Given the description of an element on the screen output the (x, y) to click on. 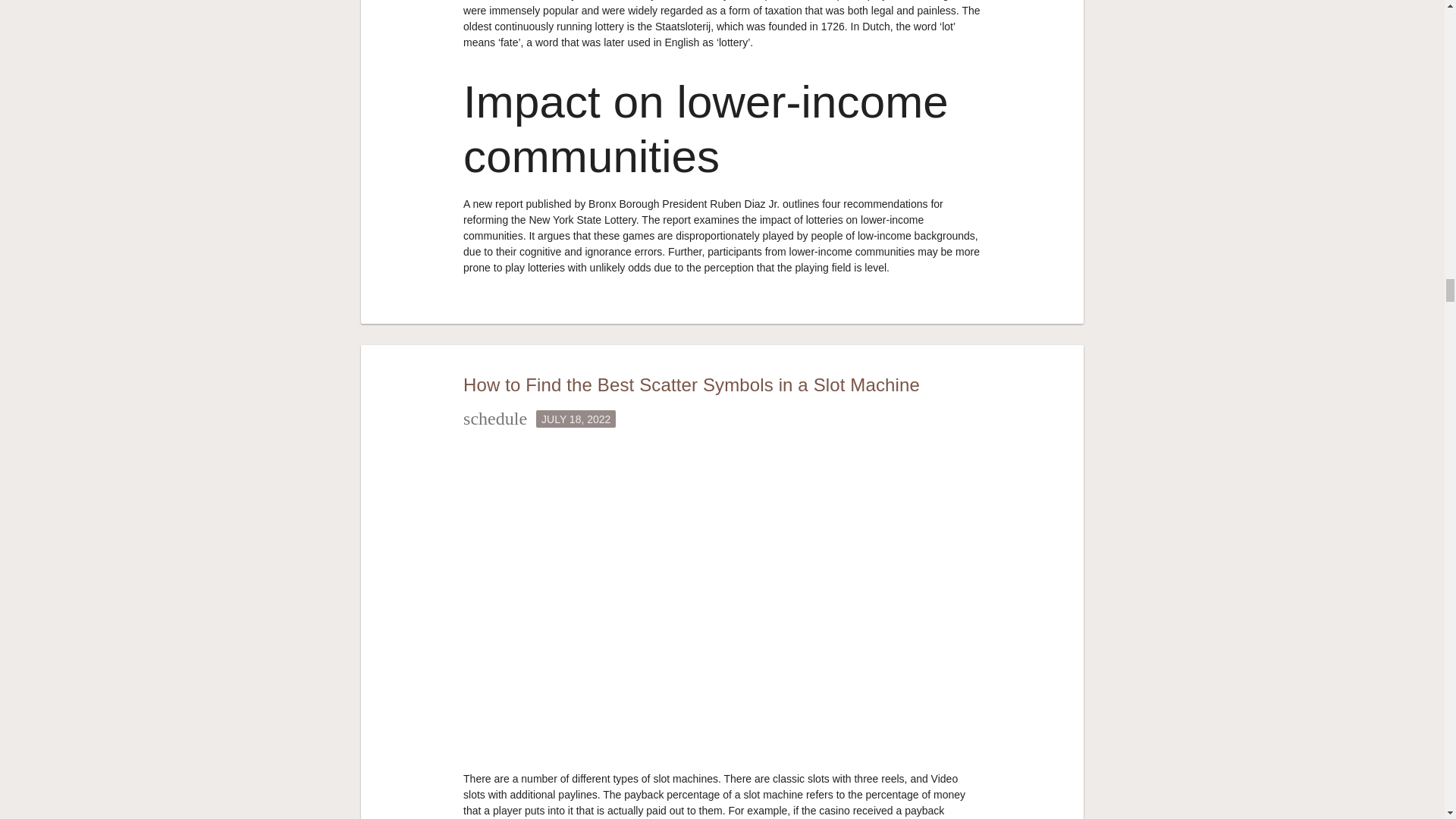
How to Find the Best Scatter Symbols in a Slot Machine (691, 384)
JULY 18, 2022 (575, 418)
